Given the description of an element on the screen output the (x, y) to click on. 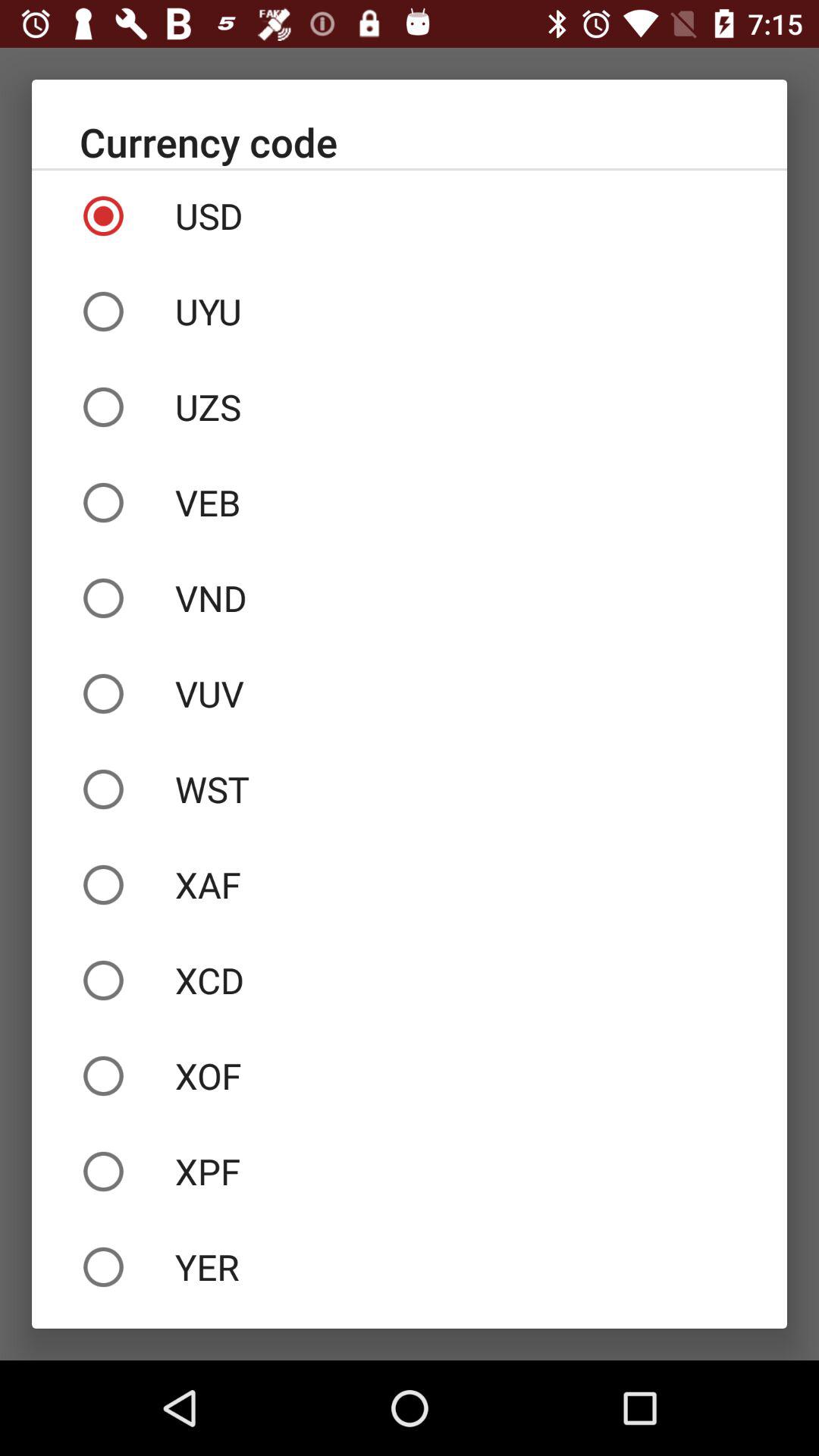
open the item below wst icon (409, 884)
